Given the description of an element on the screen output the (x, y) to click on. 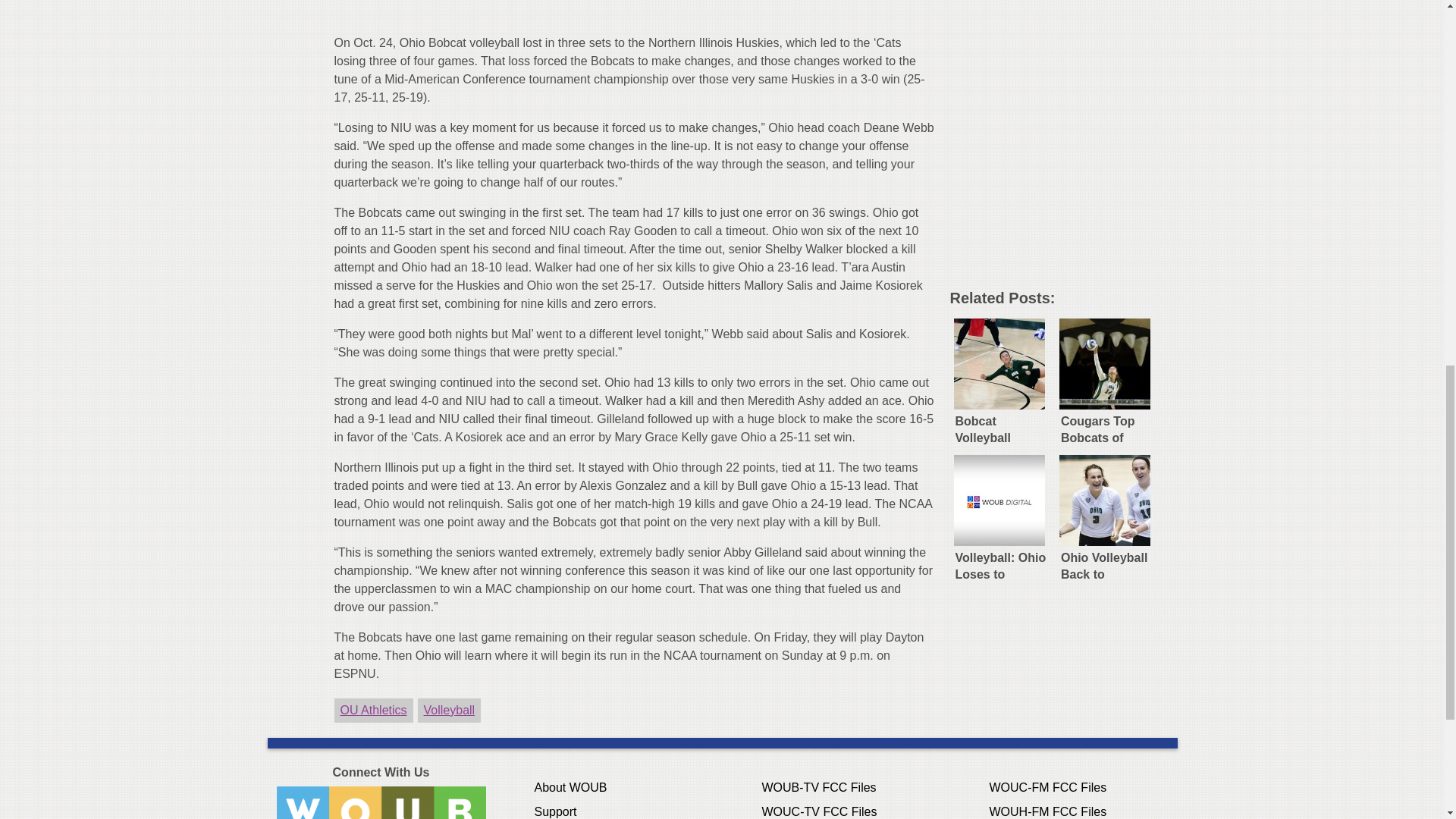
3rd party ad content (1062, 181)
Volleyball (449, 710)
OU Athletics (372, 710)
3rd party ad content (1062, 39)
